Given the description of an element on the screen output the (x, y) to click on. 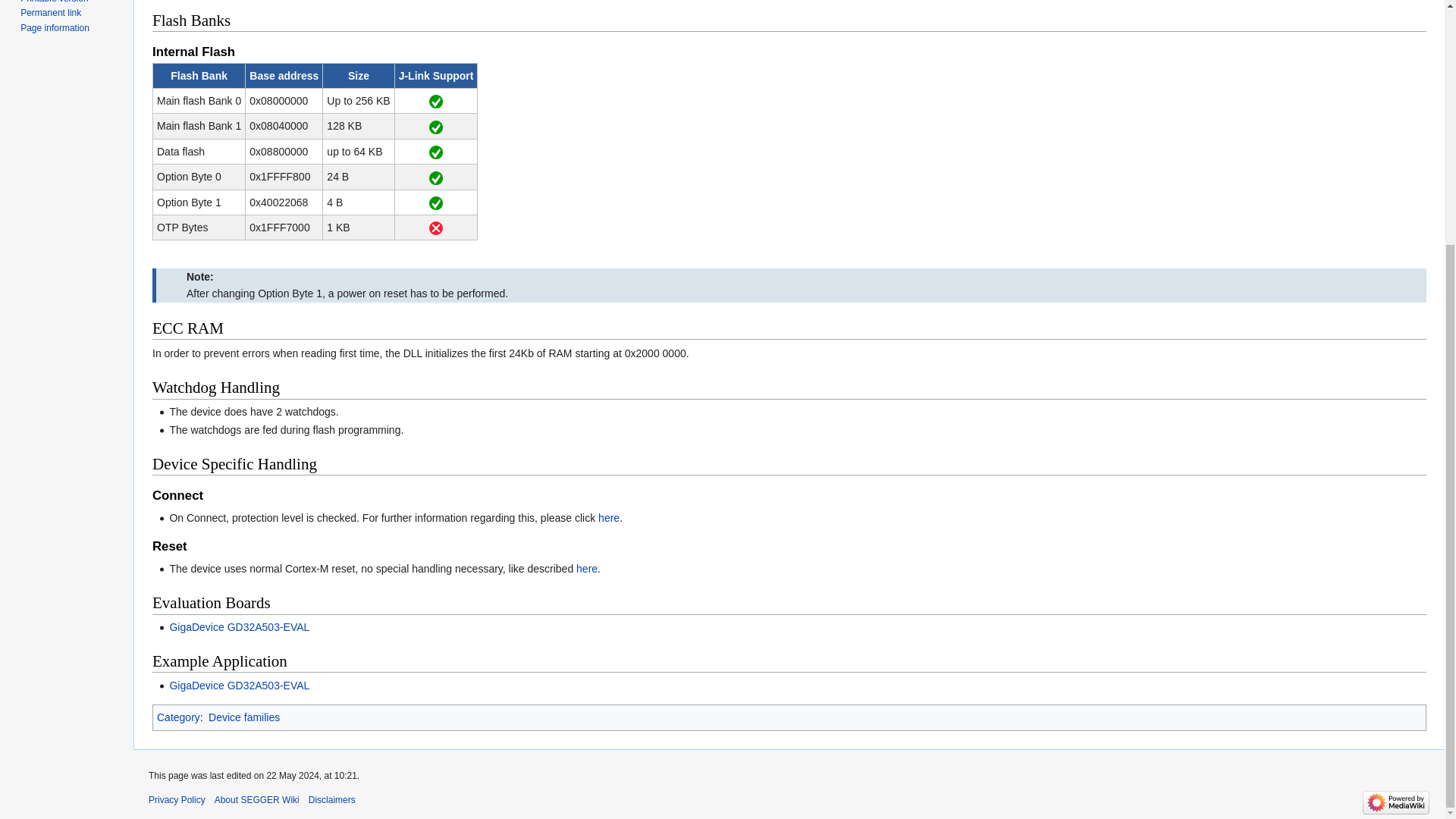
J-Link Reset Strategies (586, 568)
GigaDevice GD32A503-EVAL (238, 626)
Category:Device families (243, 717)
GigaDevice GD32A503-EVAL (238, 685)
Special:Categories (178, 717)
here (586, 568)
Page information (54, 27)
here (609, 517)
GigaDevice GD32 (609, 517)
GigaDevice GD32A503-EVAL (238, 685)
